Given the description of an element on the screen output the (x, y) to click on. 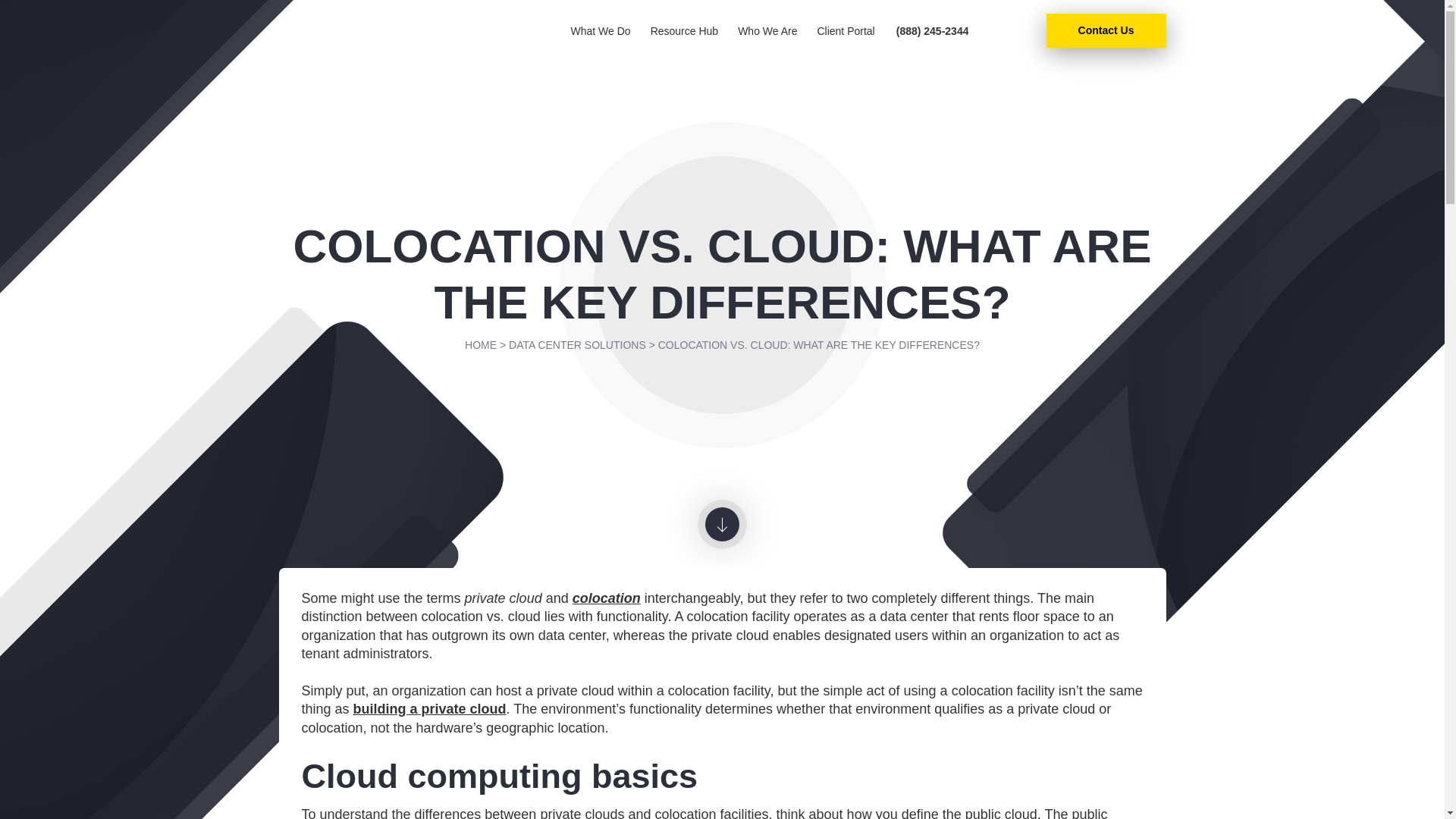
What We Do (600, 38)
Who We Are (767, 38)
Contact Us (1106, 30)
Next (721, 523)
Client Portal (845, 38)
colocation (606, 598)
HOME (480, 344)
DATA CENTER SOLUTIONS (577, 344)
building a private cloud (429, 708)
SILVERBACK DATA CENTER SOLUTIONS (381, 30)
Resource Hub (684, 38)
